Given the description of an element on the screen output the (x, y) to click on. 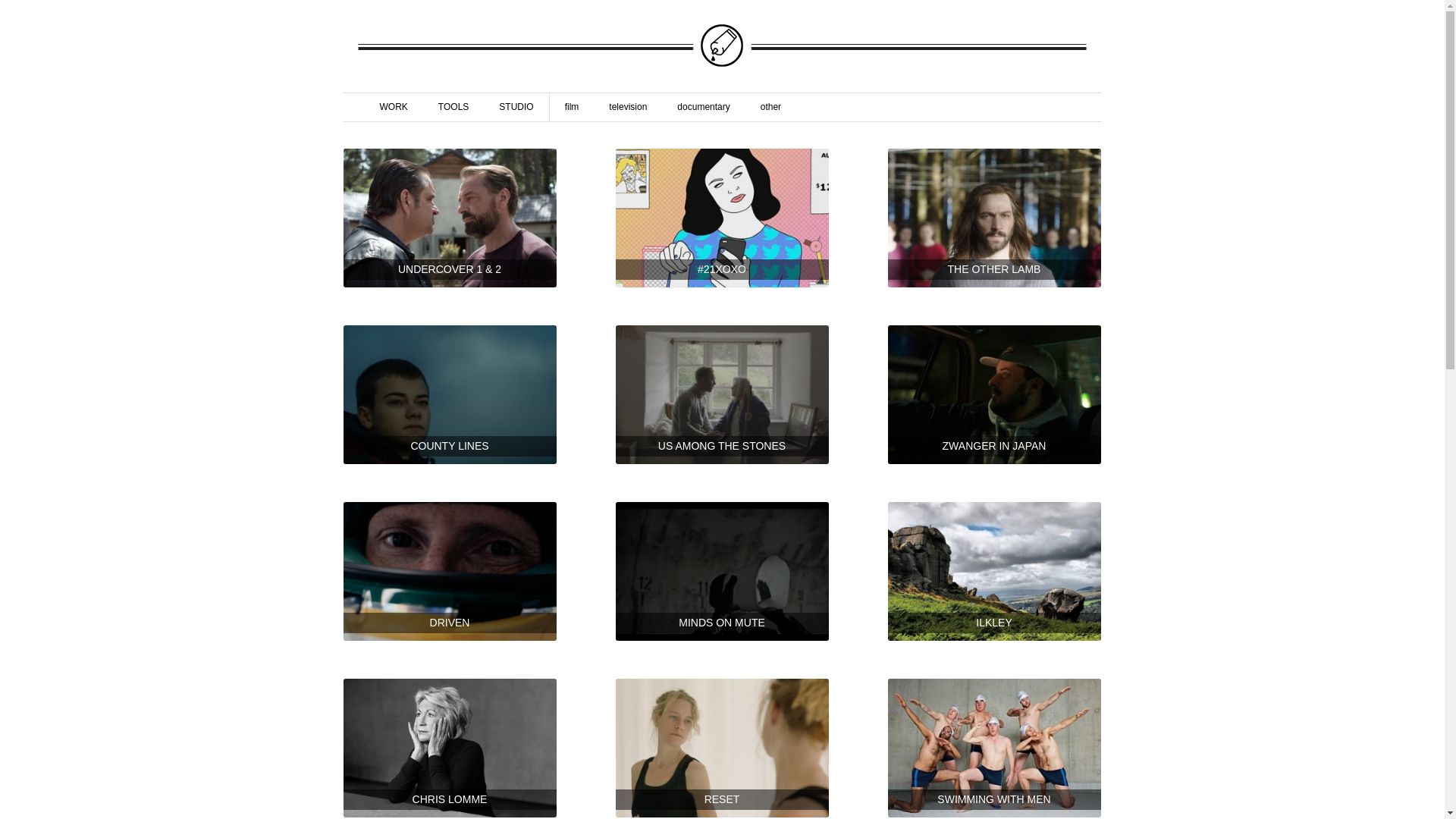
TOOLS Element type: text (453, 107)
film Element type: text (571, 107)
documentary Element type: text (703, 107)
television Element type: text (627, 107)
WORK Element type: text (392, 107)
other Element type: text (770, 107)
STUDIO Element type: text (515, 107)
